Given the description of an element on the screen output the (x, y) to click on. 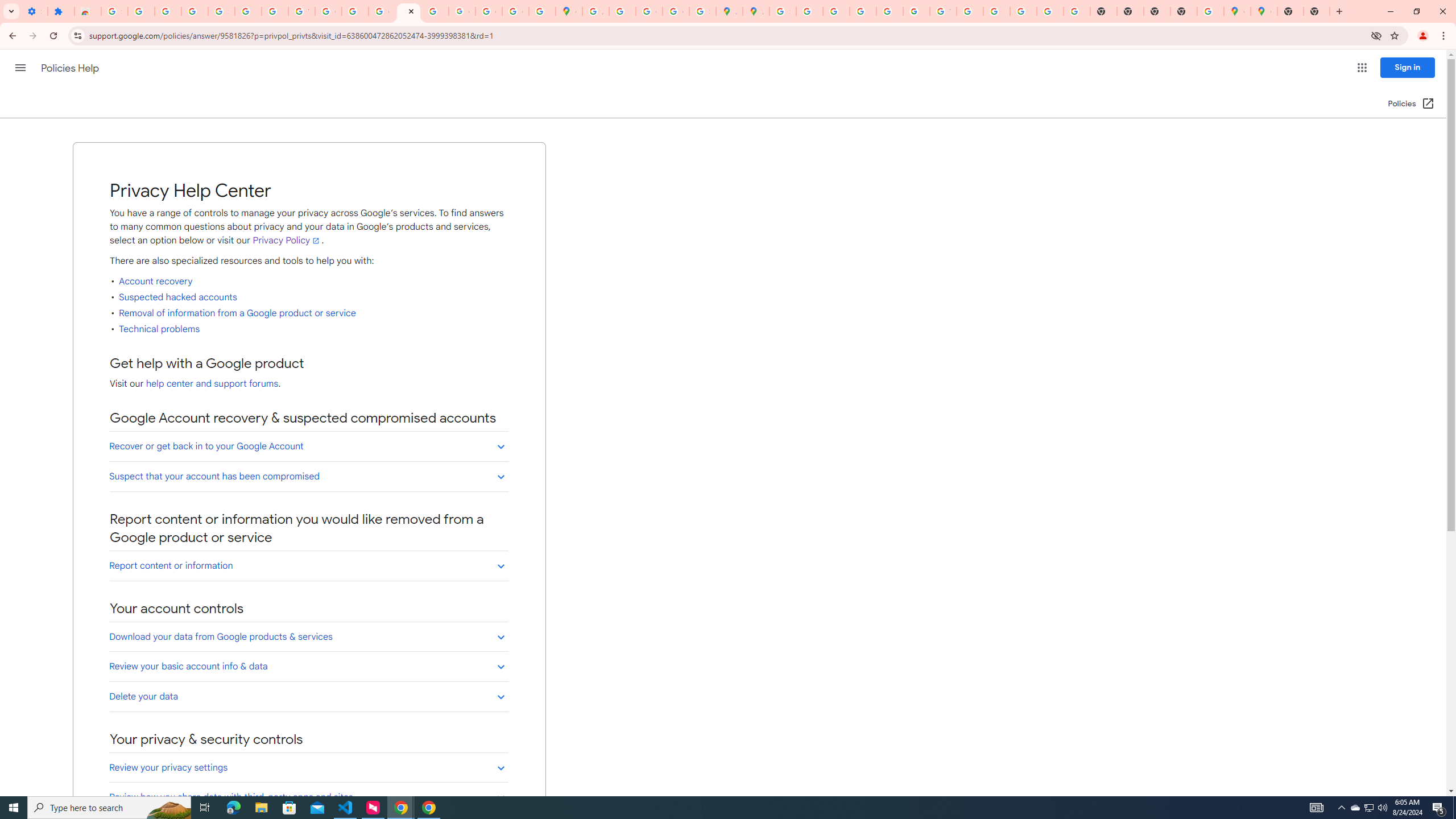
Delete your data (308, 696)
New Tab (1183, 11)
Google Maps (569, 11)
Review how you share data with third-party apps and sites (308, 797)
Use Google Maps in Space - Google Maps Help (1210, 11)
